Given the description of an element on the screen output the (x, y) to click on. 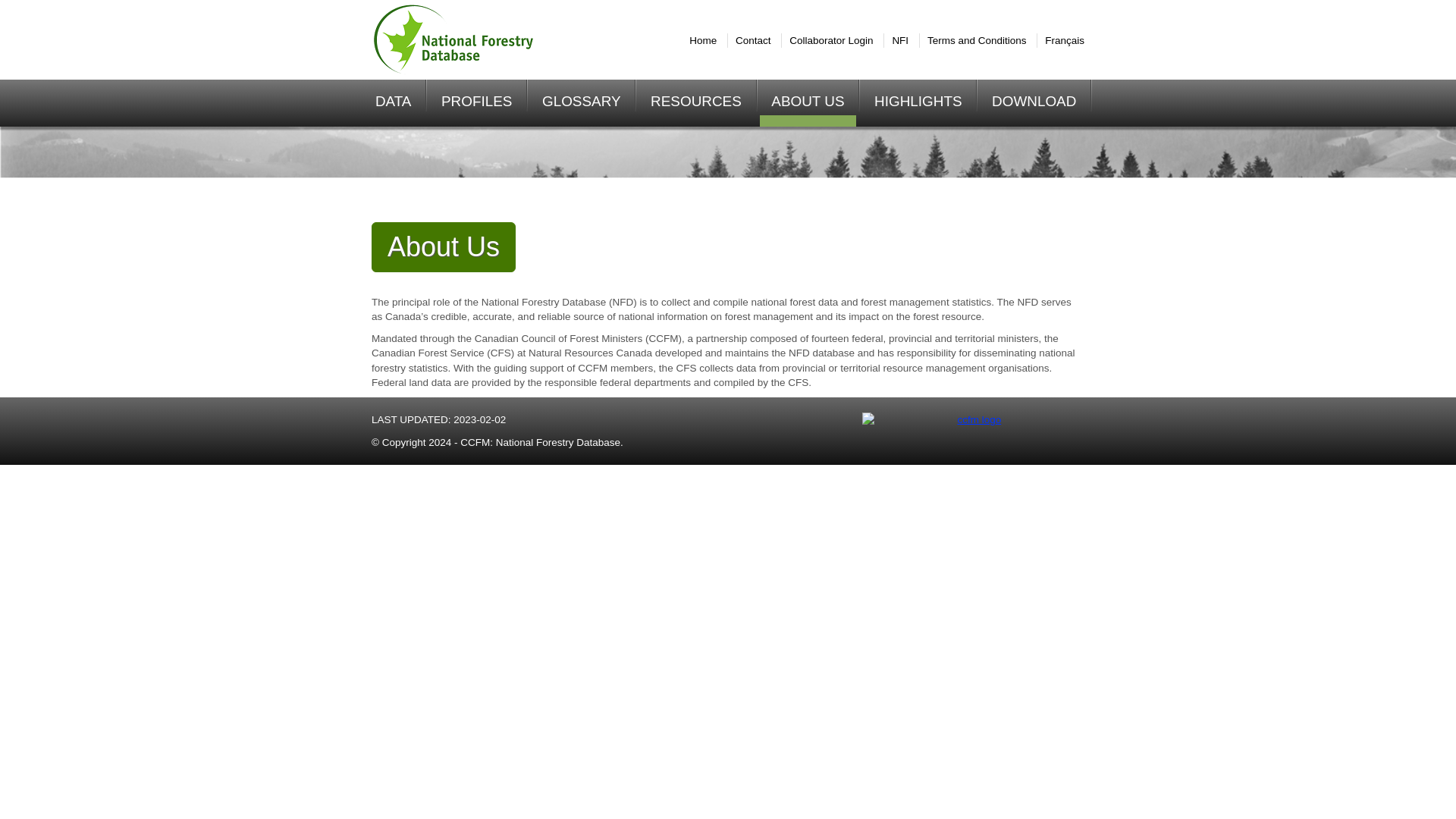
National Forestry Database (477, 38)
Collaborator Login (830, 40)
Collaborator Login (830, 40)
DATA (393, 102)
Home (702, 40)
GLOSSARY (581, 102)
Contact (753, 40)
RESOURCES (695, 102)
Forestry Highlights (917, 102)
Download Data (1033, 102)
